Given the description of an element on the screen output the (x, y) to click on. 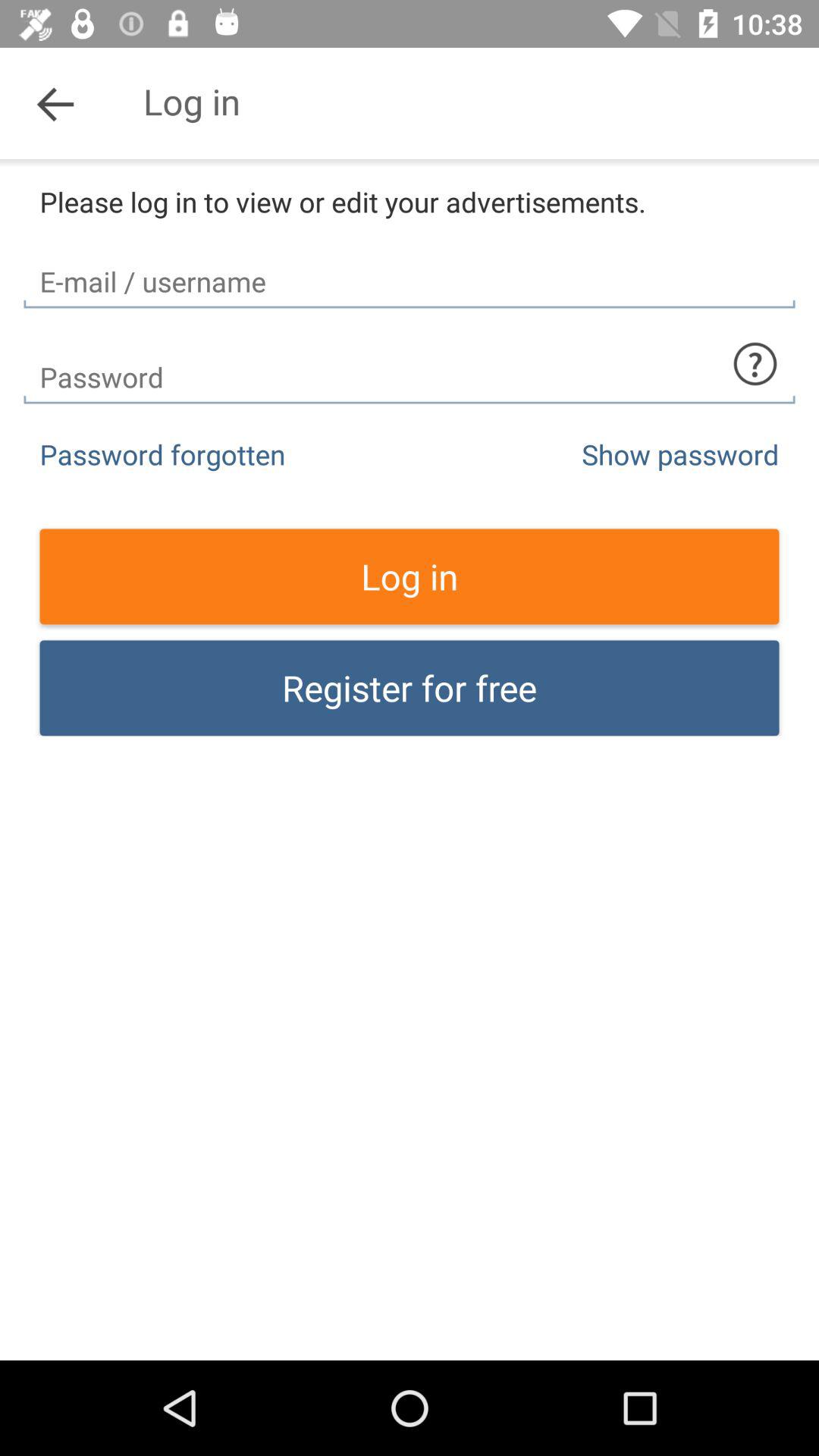
scroll until the show password icon (680, 454)
